Given the description of an element on the screen output the (x, y) to click on. 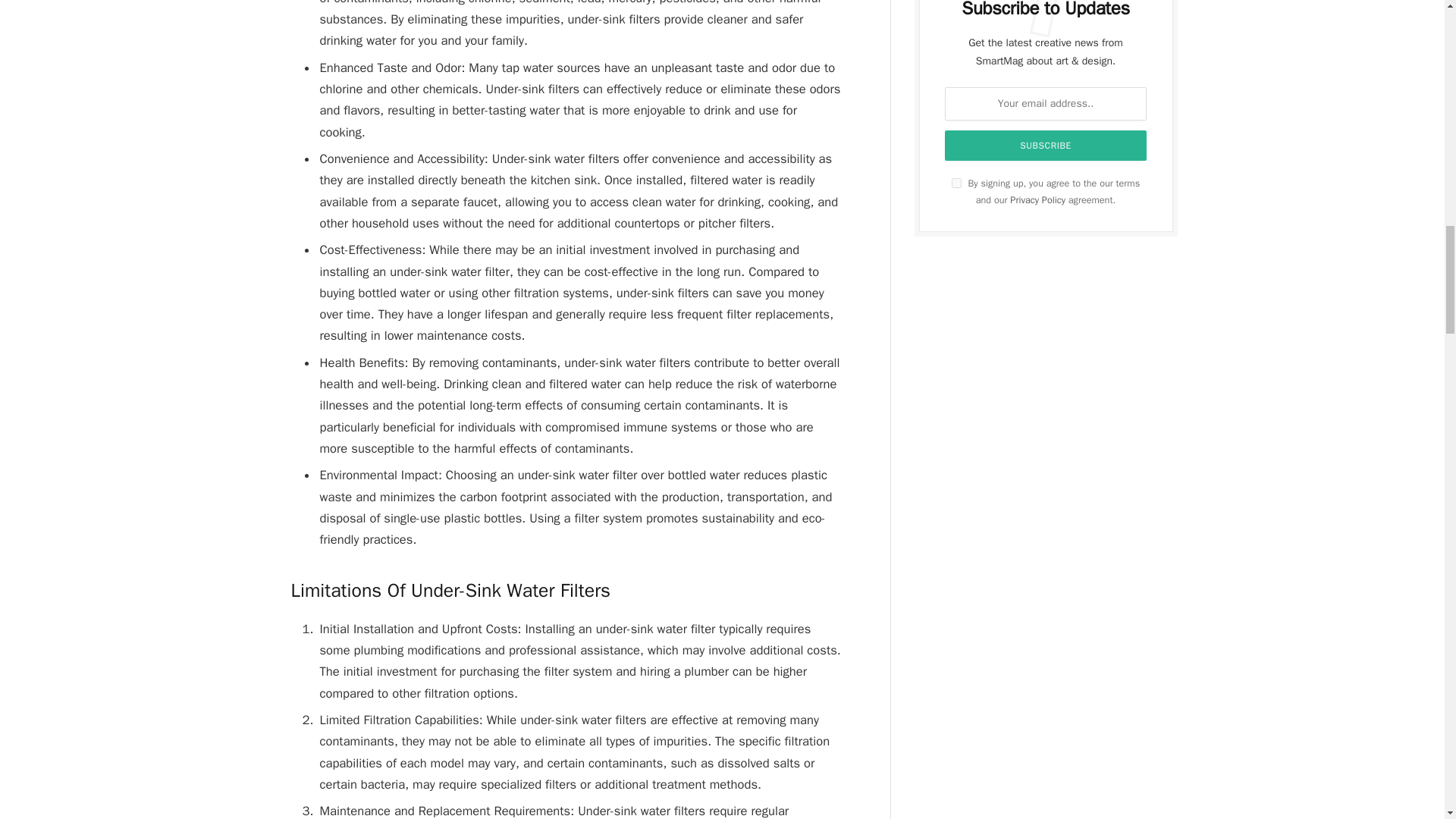
Subscribe (1045, 145)
on (956, 183)
